Given the description of an element on the screen output the (x, y) to click on. 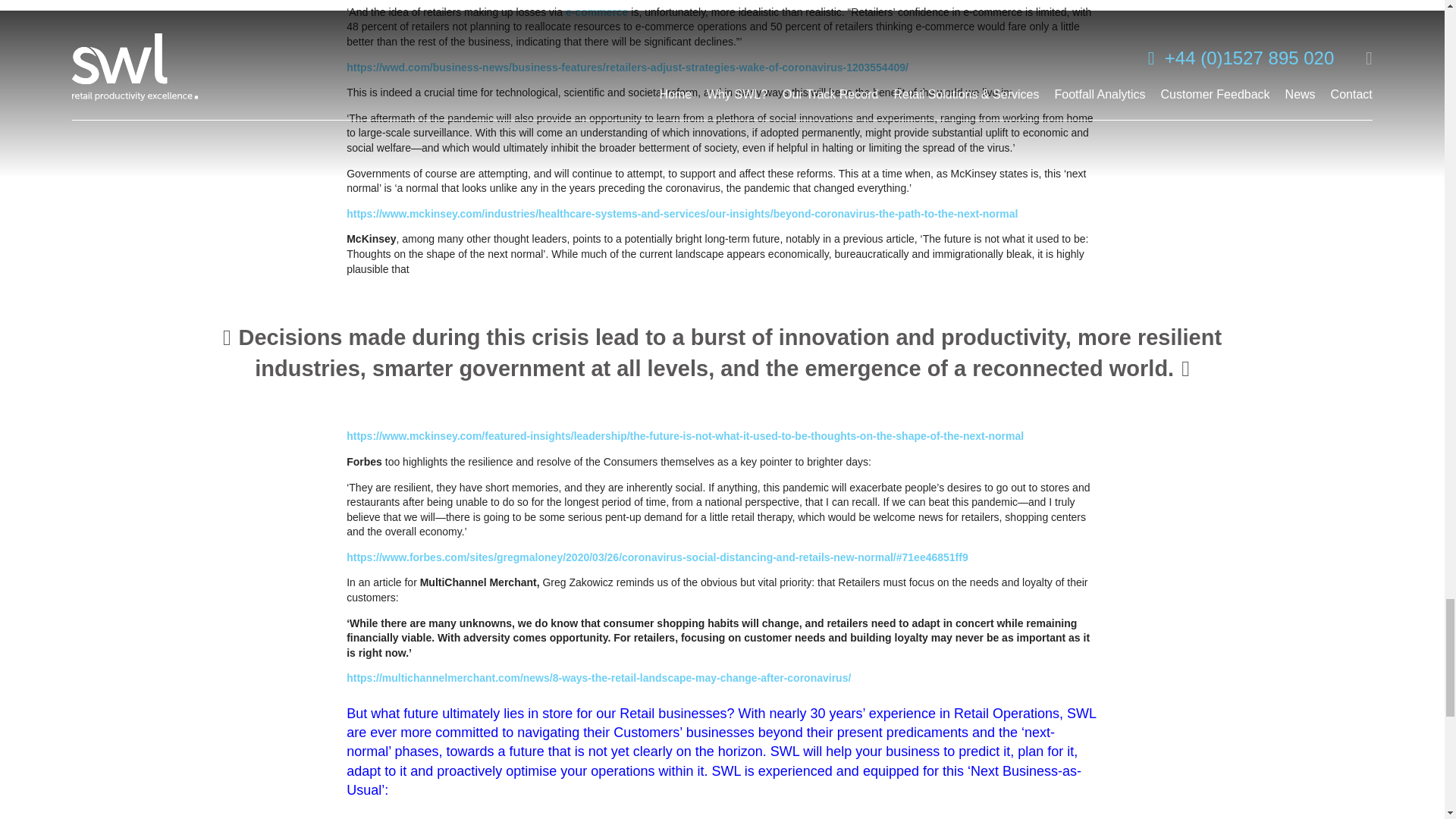
e-commerce (597, 11)
